Given the description of an element on the screen output the (x, y) to click on. 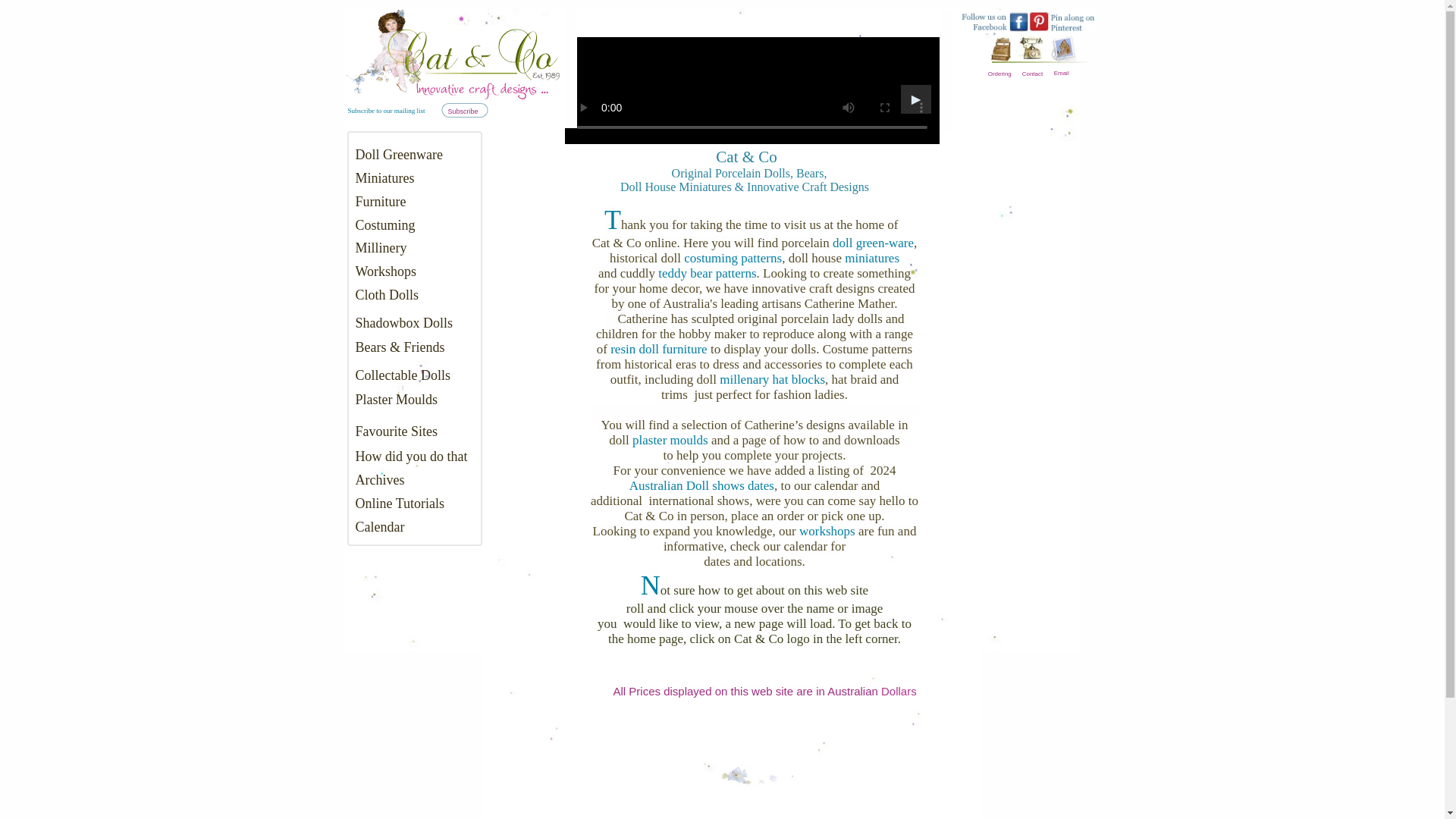
Doll Greenware (398, 154)
costuming patterns (732, 257)
Subscribe (461, 111)
Workshops (385, 271)
Australian Doll shows dates (701, 485)
Millinery (380, 247)
Cloth Dolls (387, 294)
Subscribe to our mailing list (386, 110)
Email (1061, 72)
plaster moulds (669, 440)
Ordering (999, 73)
Furniture (380, 201)
Shadowbox Dolls (403, 322)
teddy bear patterns (706, 273)
Plaster Moulds (396, 399)
